Given the description of an element on the screen output the (x, y) to click on. 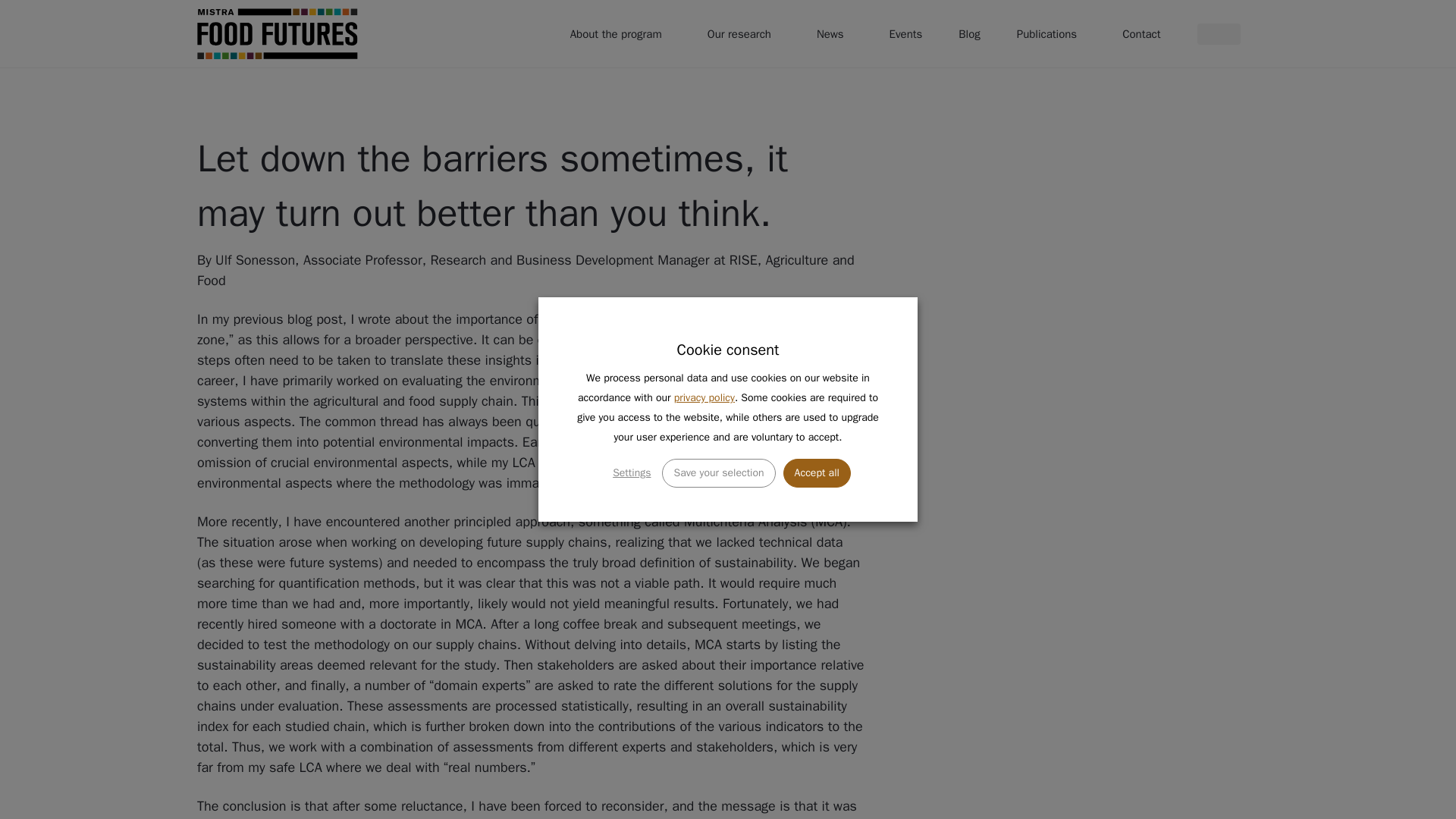
News (833, 33)
About the program (619, 33)
Our research (742, 33)
Contact (1140, 33)
Events (905, 33)
Publications (1050, 33)
